Given the description of an element on the screen output the (x, y) to click on. 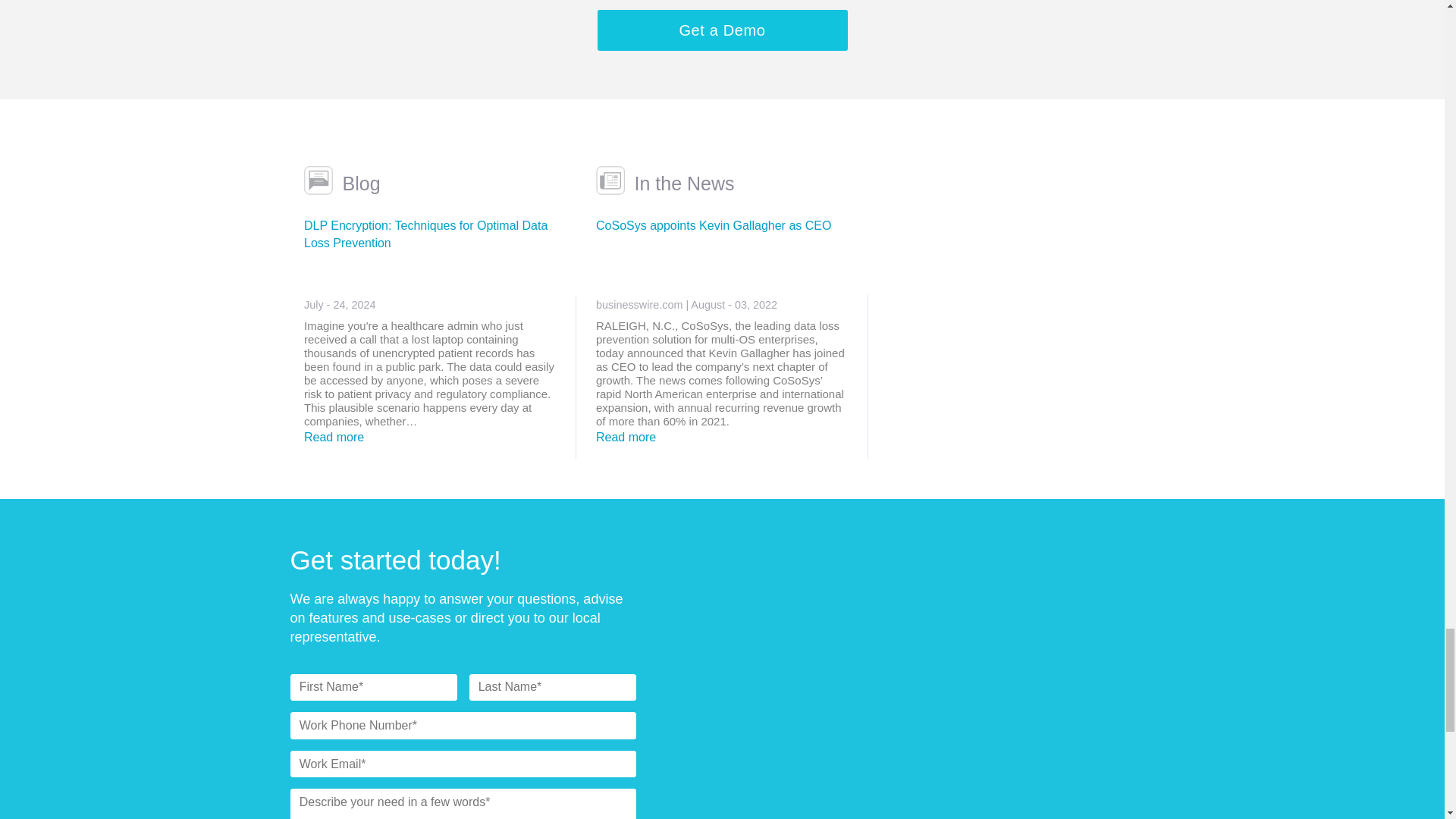
web-social (318, 180)
